Given the description of an element on the screen output the (x, y) to click on. 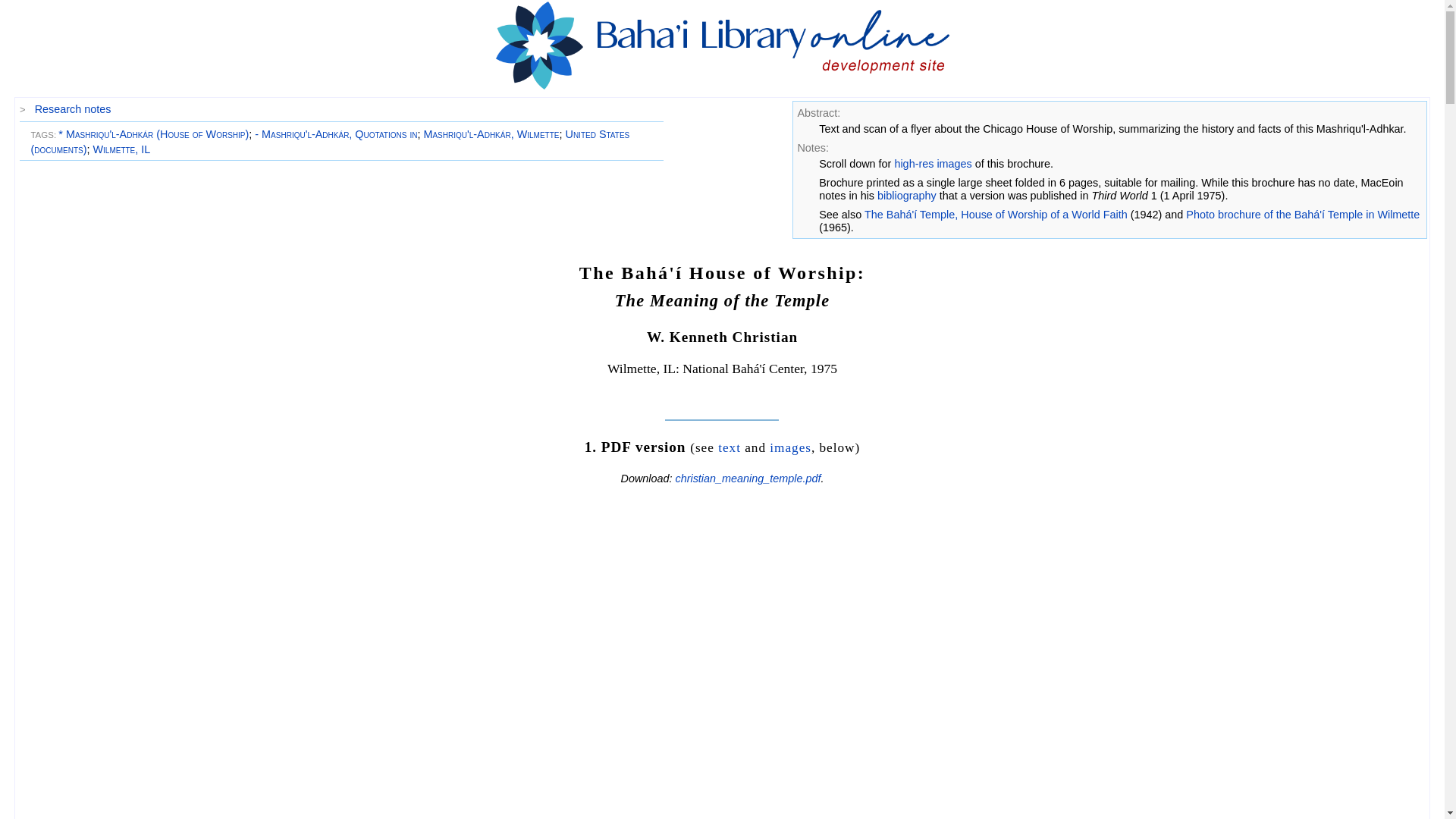
text (729, 447)
Research notes (73, 109)
bibliography (906, 195)
images (790, 447)
high-res images (932, 163)
Wilmette, IL (121, 149)
